Given the description of an element on the screen output the (x, y) to click on. 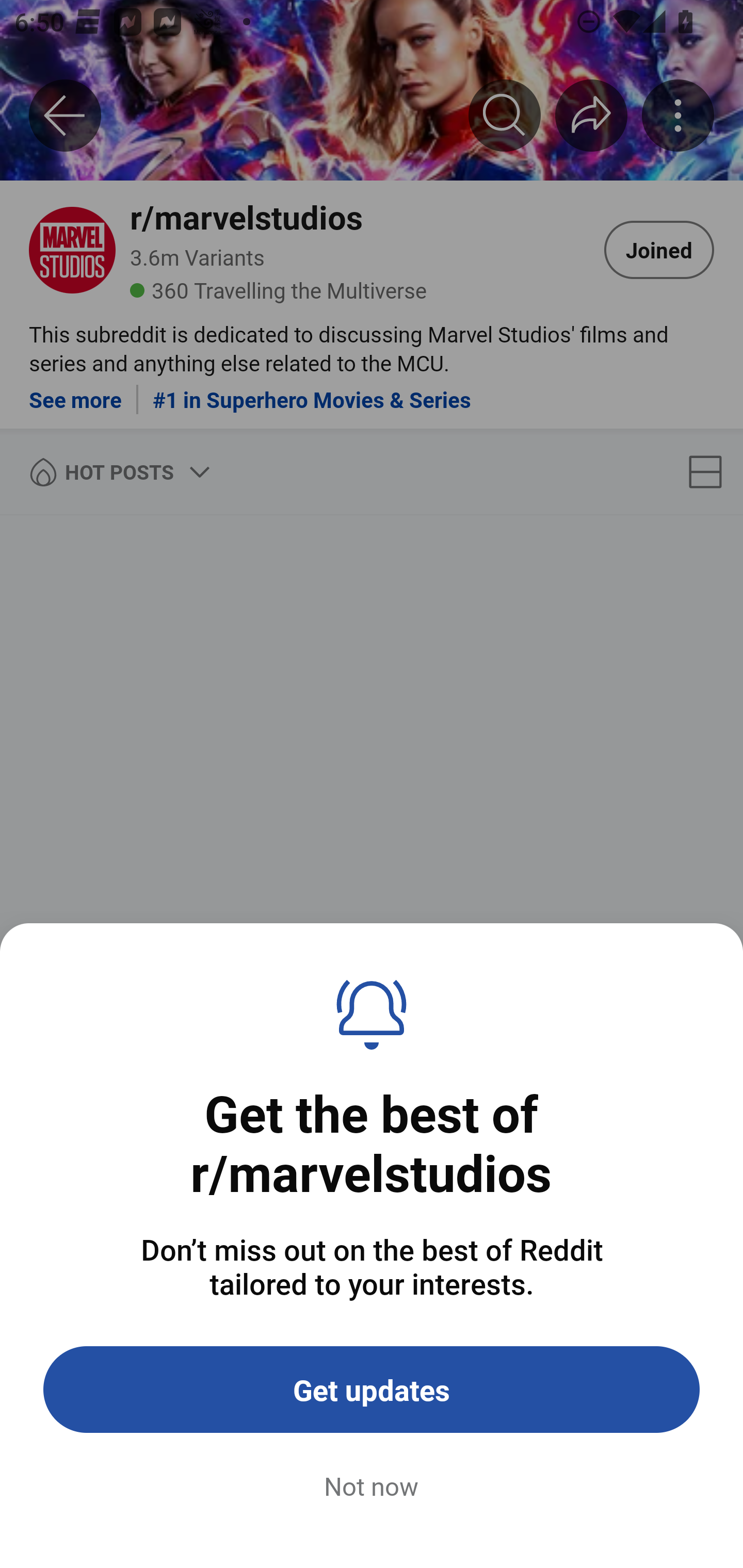
Get updates (371, 1389)
Not now (371, 1486)
